Given the description of an element on the screen output the (x, y) to click on. 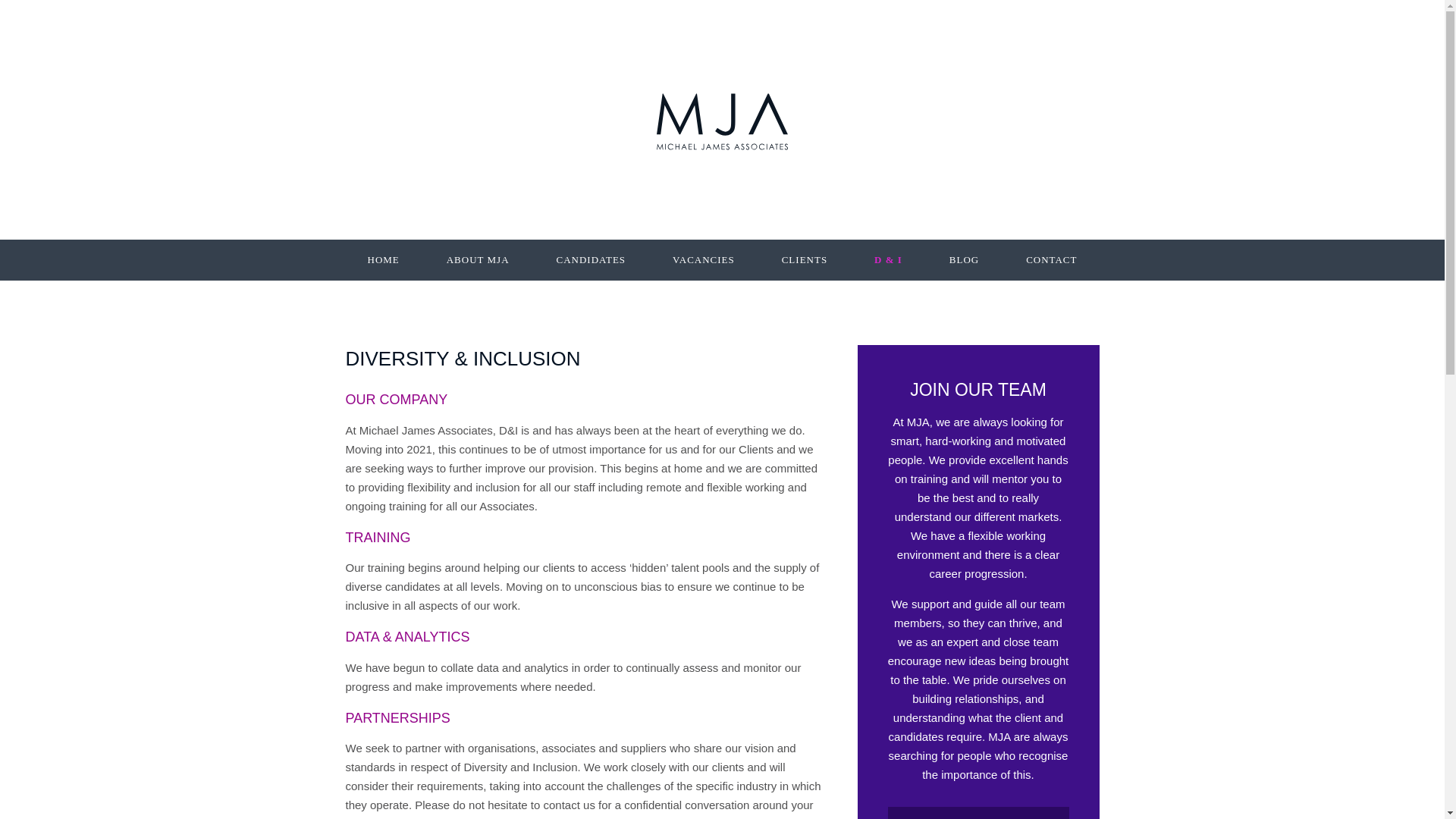
HOME (382, 259)
CLIENTS (804, 259)
APPLY HERE (977, 812)
Back to the Home page (721, 121)
CANDIDATES (591, 259)
ABOUT MJA (477, 259)
VACANCIES (703, 259)
CONTACT (1051, 259)
BLOG (963, 259)
